Given the description of an element on the screen output the (x, y) to click on. 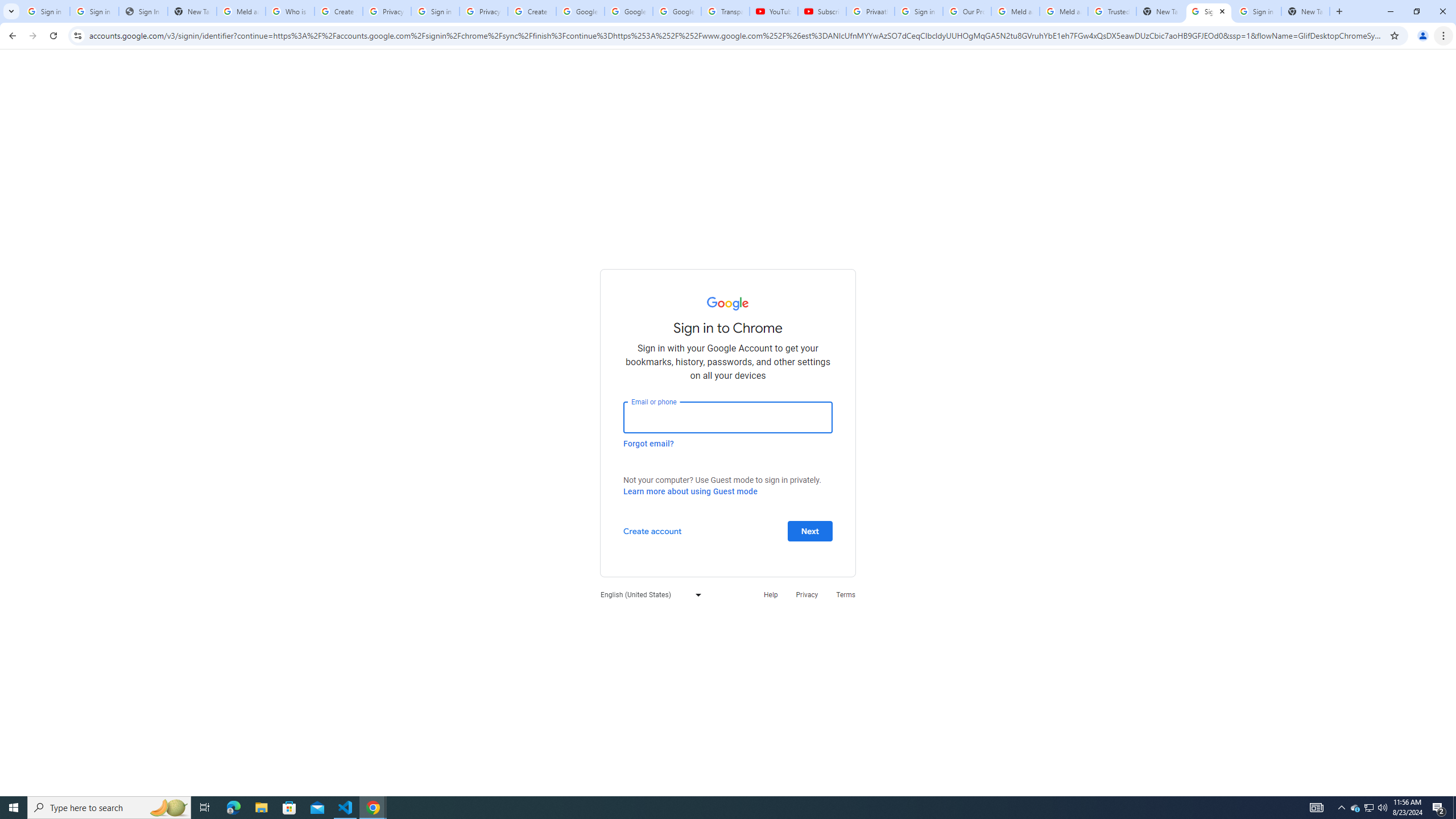
Sign in - Google Accounts (1208, 11)
Subscriptions - YouTube (822, 11)
Learn more about using Guest mode (689, 491)
New Tab (1160, 11)
English (United States) (647, 594)
